Given the description of an element on the screen output the (x, y) to click on. 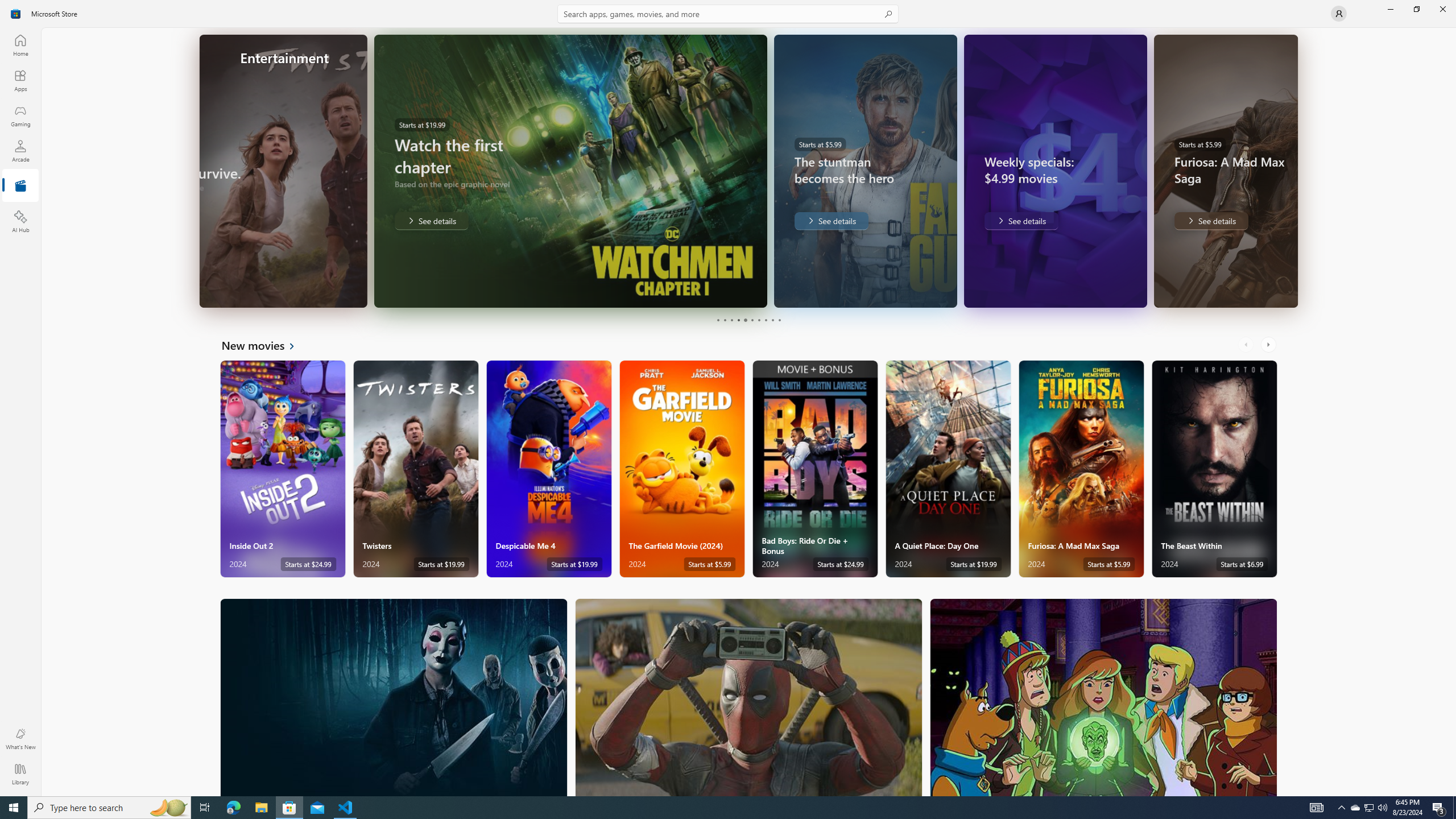
Page 1 (717, 319)
Page 2 (724, 319)
Horror (393, 697)
Entertainment (20, 185)
Page 5 (744, 319)
See all  New movies (264, 345)
Page 7 (758, 319)
Library (20, 773)
AI Hub (20, 221)
Pager (748, 319)
The Beast Within. Starts at $6.99   (1213, 469)
AutomationID: PosterImage (1103, 697)
Search (727, 13)
Class: Image (15, 13)
